Given the description of an element on the screen output the (x, y) to click on. 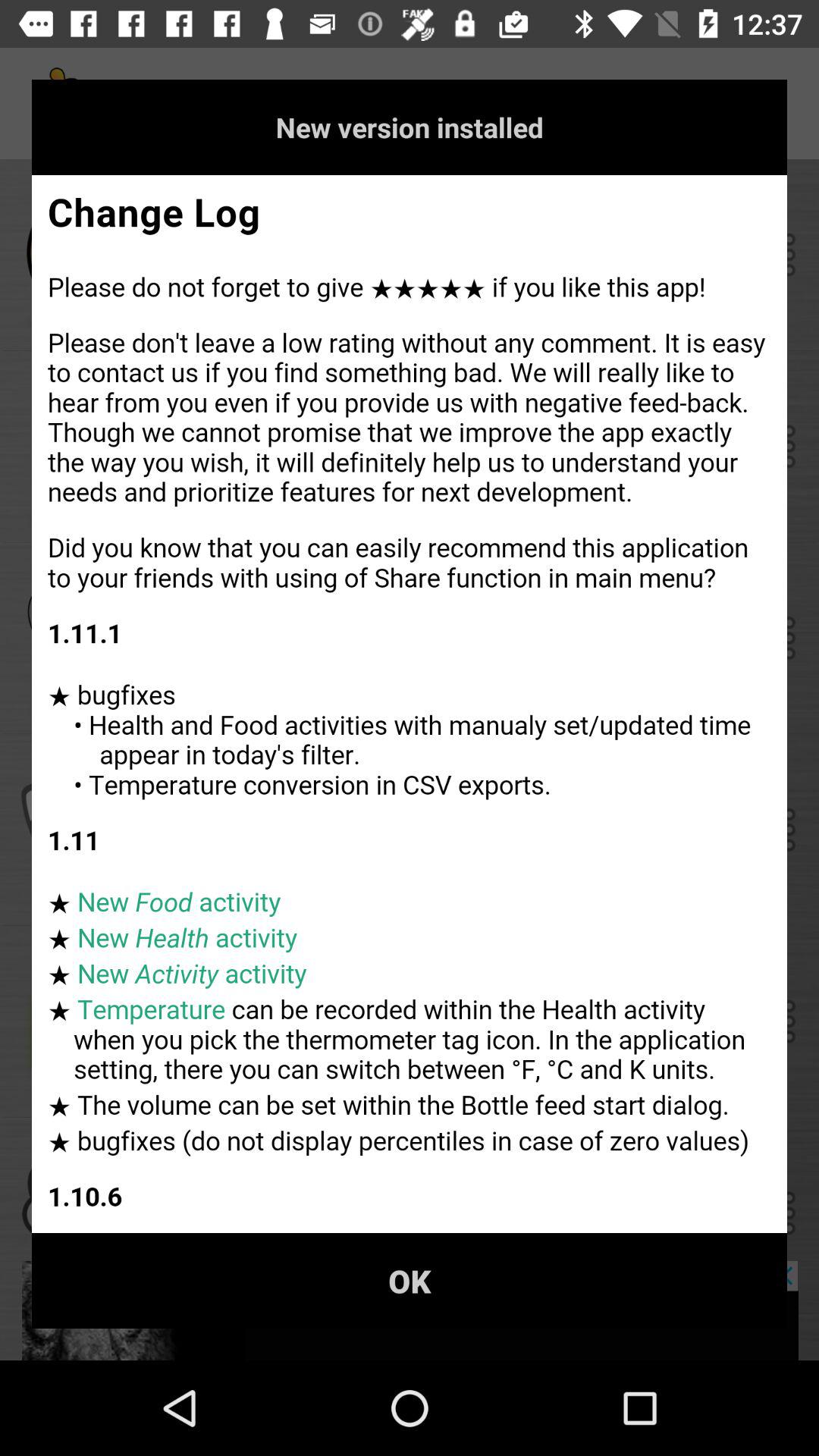
page (409, 704)
